Given the description of an element on the screen output the (x, y) to click on. 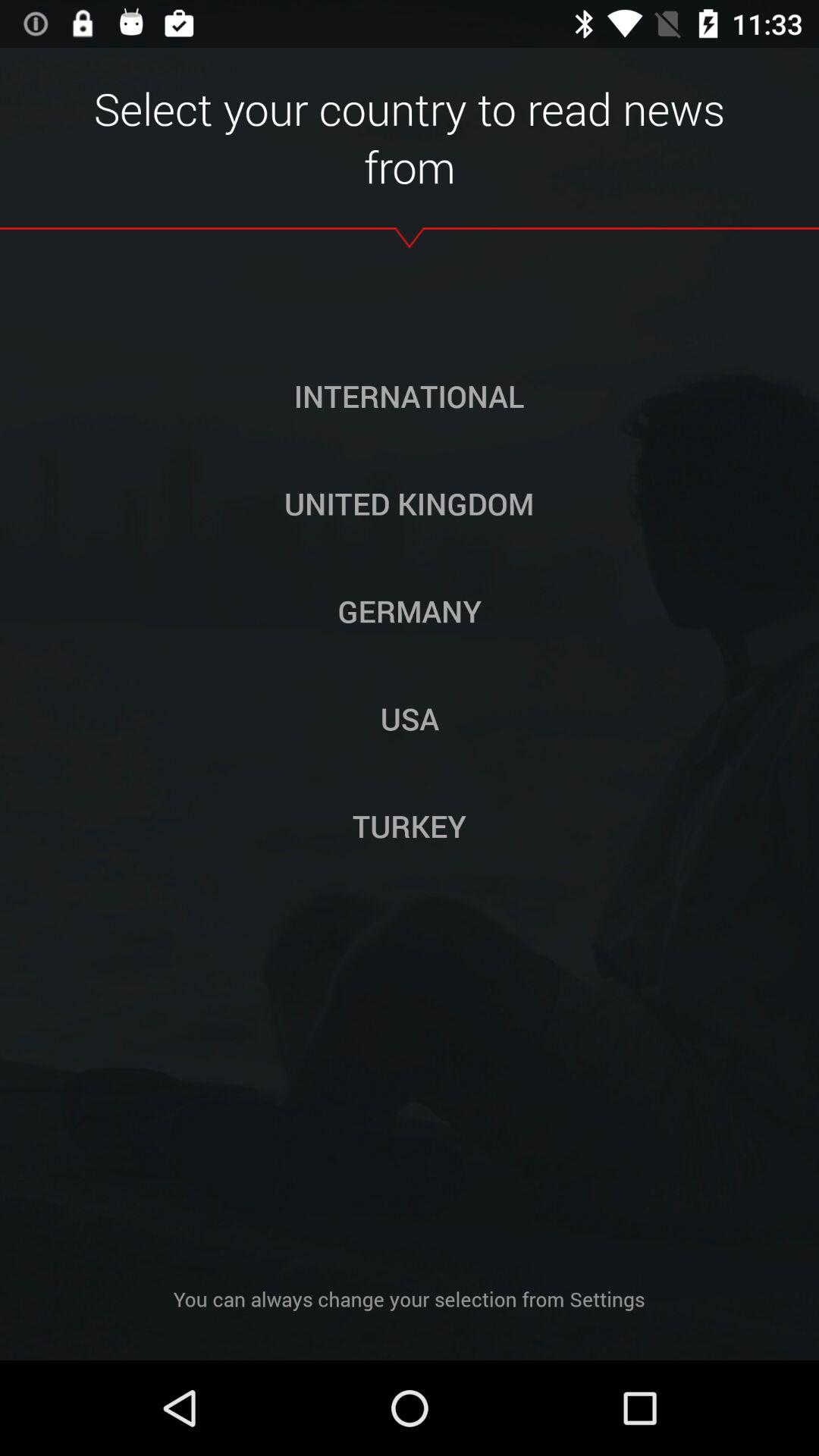
open the turkey (409, 825)
